Given the description of an element on the screen output the (x, y) to click on. 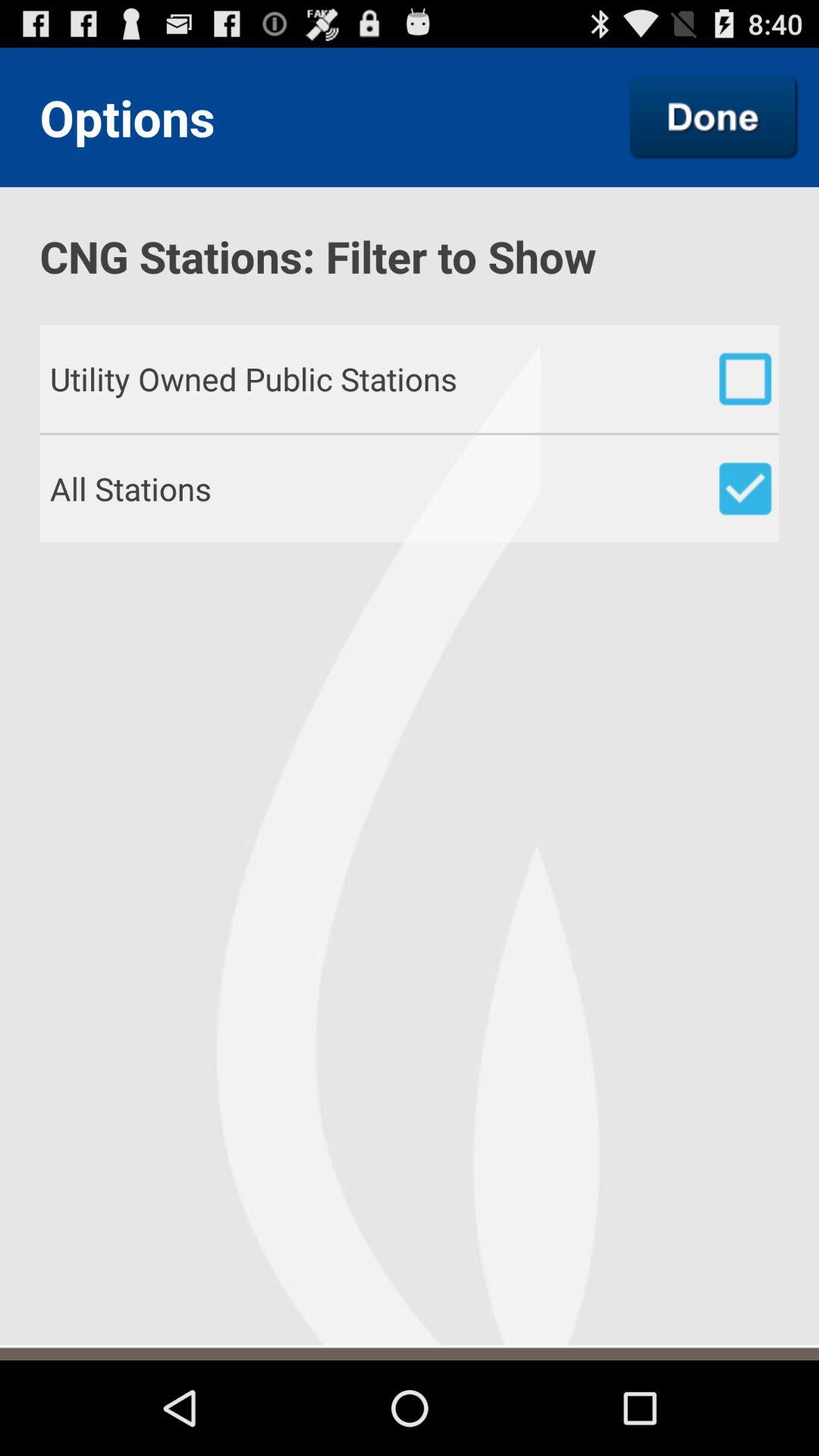
go back (714, 117)
